Given the description of an element on the screen output the (x, y) to click on. 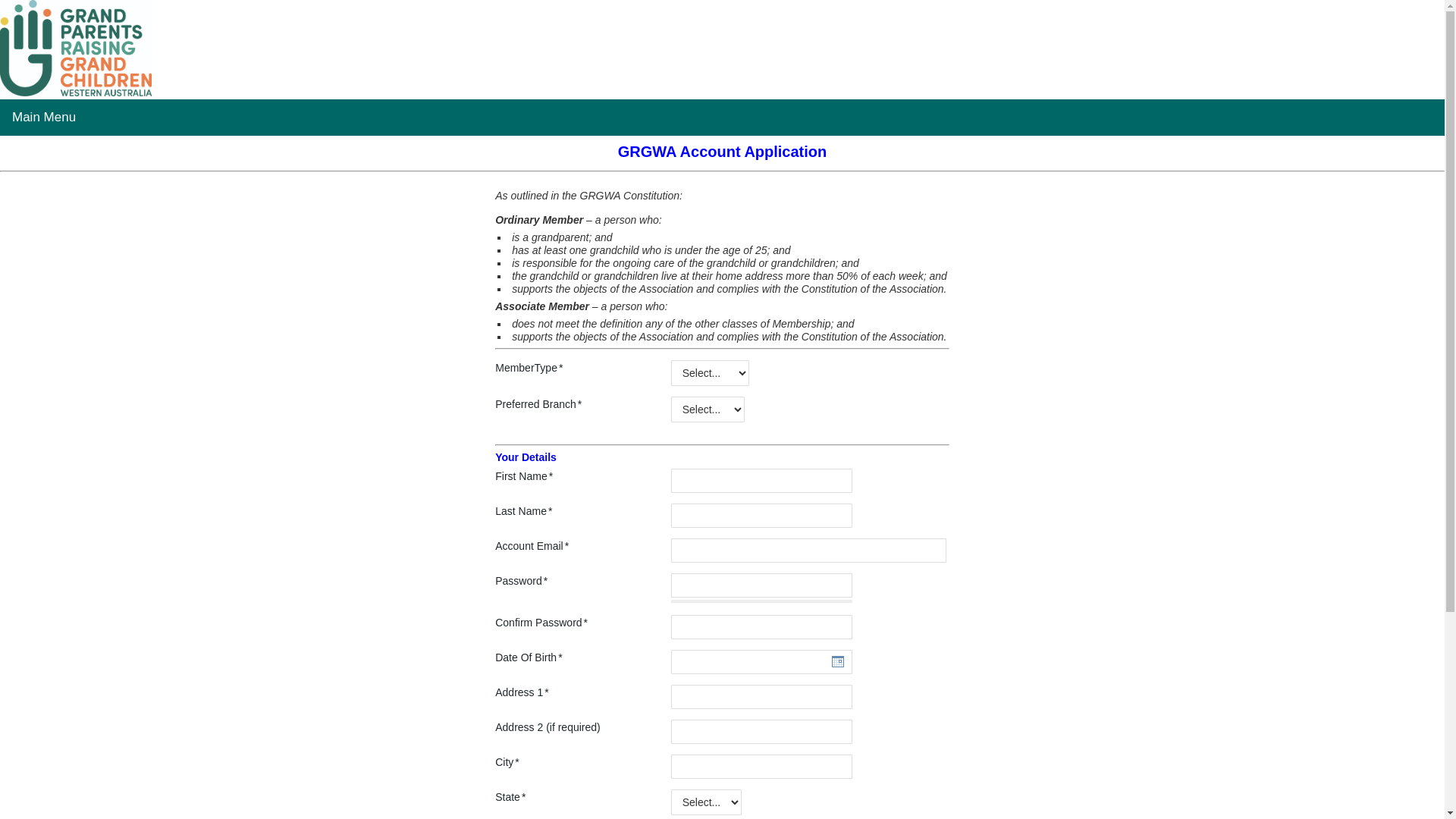
Main Menu Element type: text (43, 117)
